Given the description of an element on the screen output the (x, y) to click on. 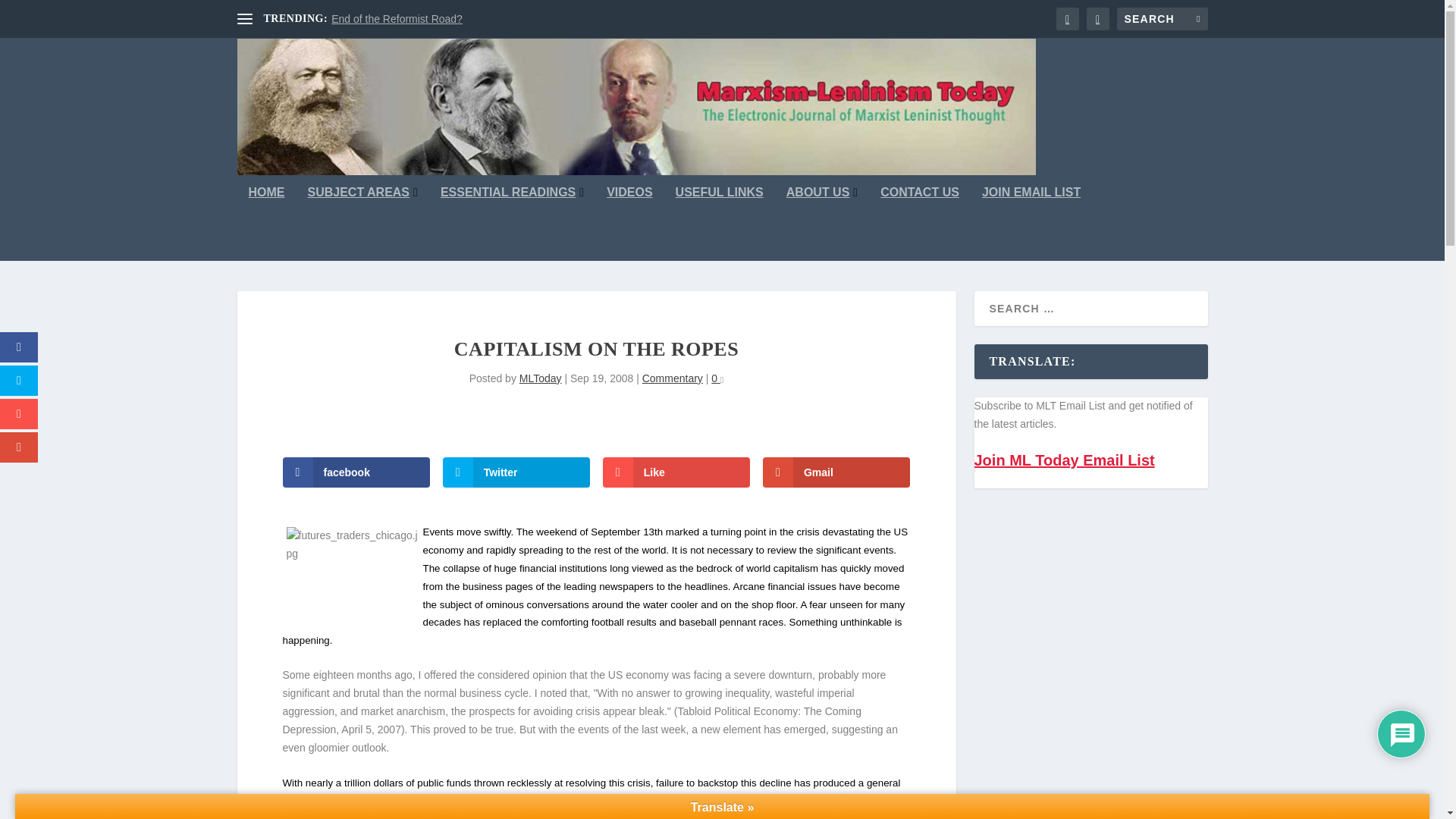
ABOUT US (821, 223)
Posts by MLToday (540, 378)
Search for: (1161, 18)
USEFUL LINKS (718, 223)
End of the Reformist Road? (397, 19)
Futures traders react to the market fluctuations (352, 576)
ESSENTIAL READINGS (512, 223)
SUBJECT AREAS (362, 223)
